Given the description of an element on the screen output the (x, y) to click on. 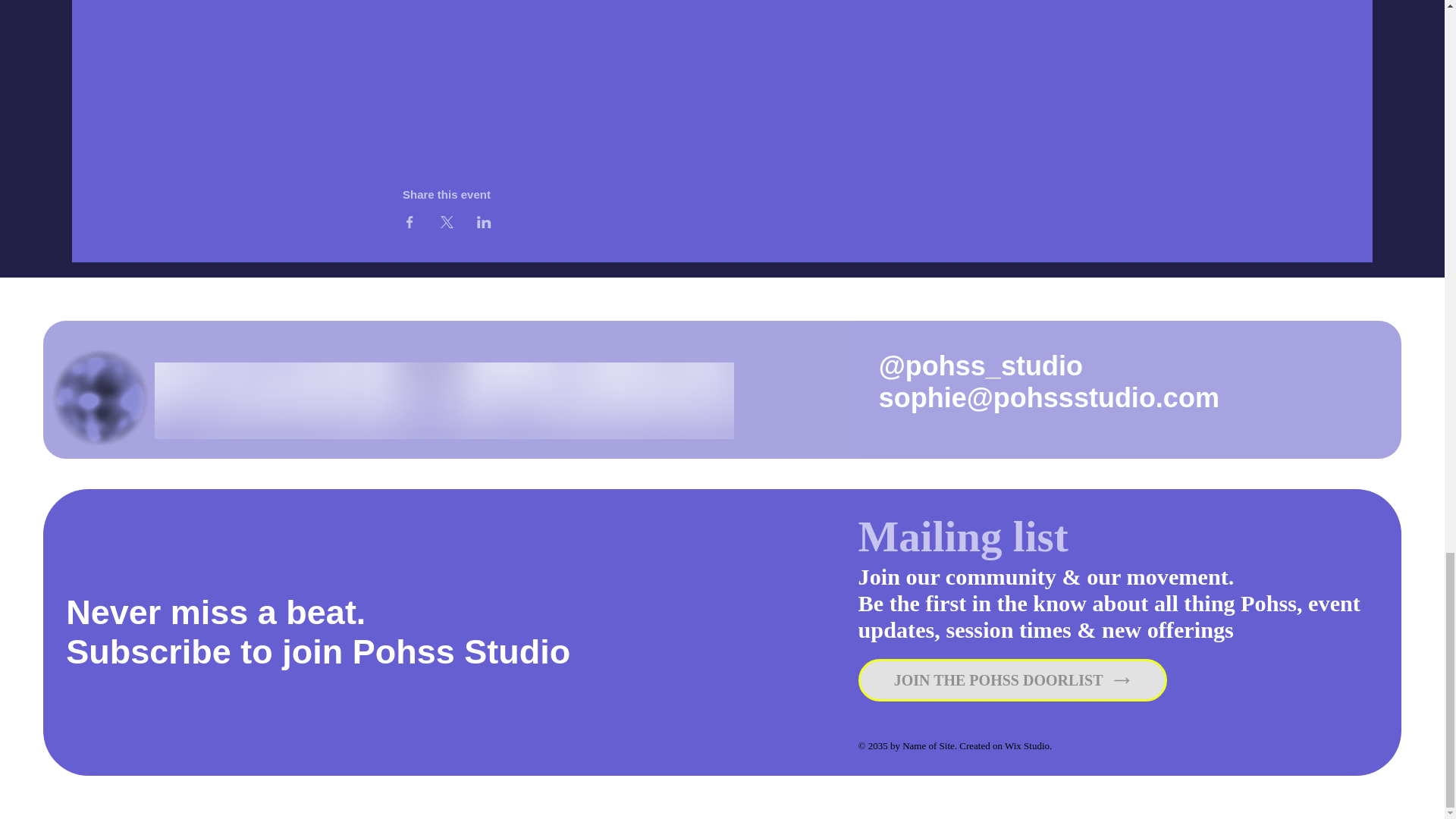
JOIN THE POHSS DOORLIST (1013, 680)
